Given the description of an element on the screen output the (x, y) to click on. 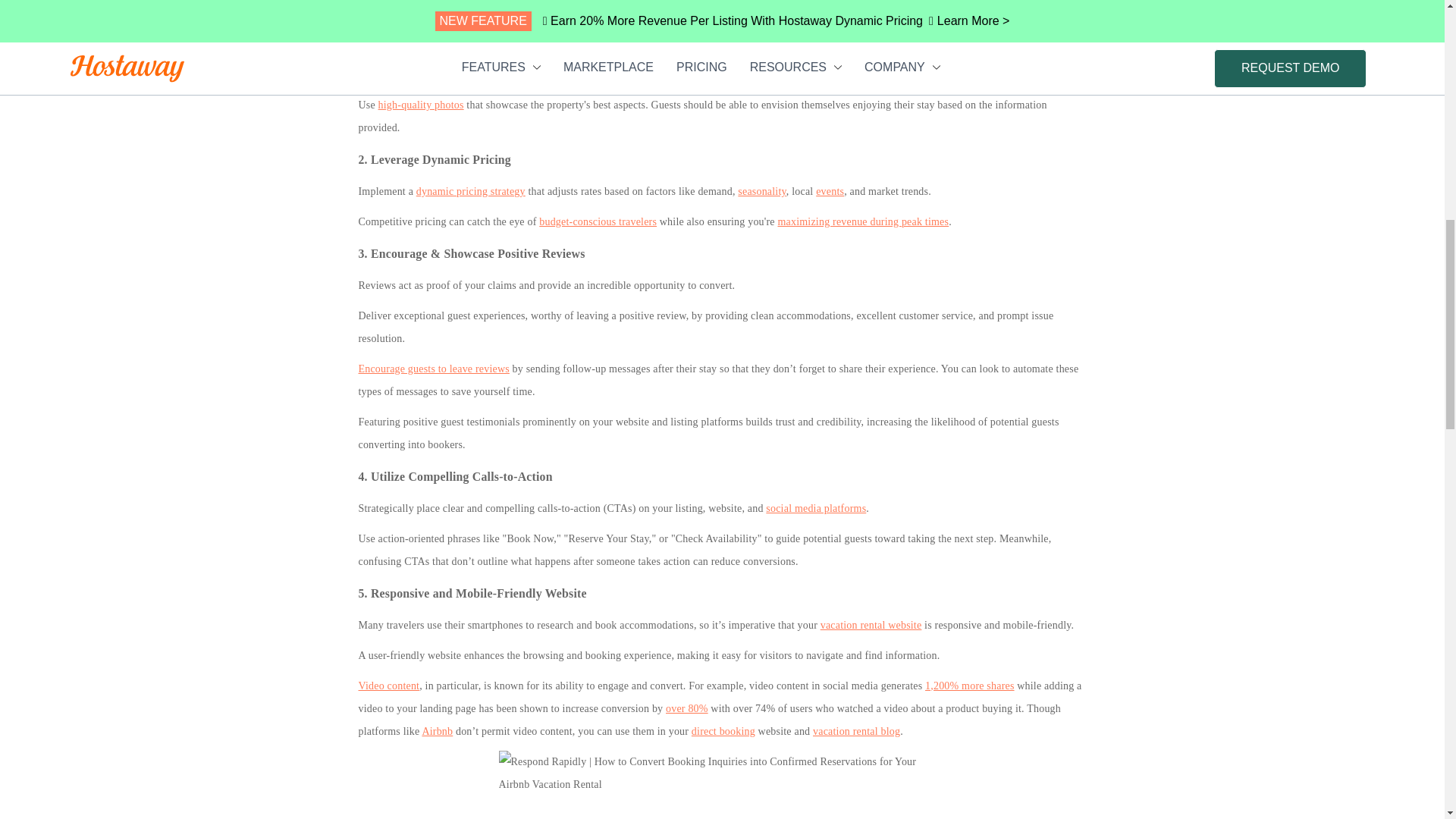
amenities (964, 51)
vacation rental website (871, 624)
dynamic pricing strategy (470, 191)
Video content (388, 685)
maximizing revenue during peak times (863, 221)
budget-conscious travelers (597, 221)
experiences (1059, 51)
Airbnb (437, 731)
vacation rental blog (855, 731)
seasonality (762, 191)
listing descriptions (748, 51)
social media platforms (815, 508)
Encourage guests to leave reviews (433, 368)
events (829, 191)
high-quality photos (421, 104)
